Given the description of an element on the screen output the (x, y) to click on. 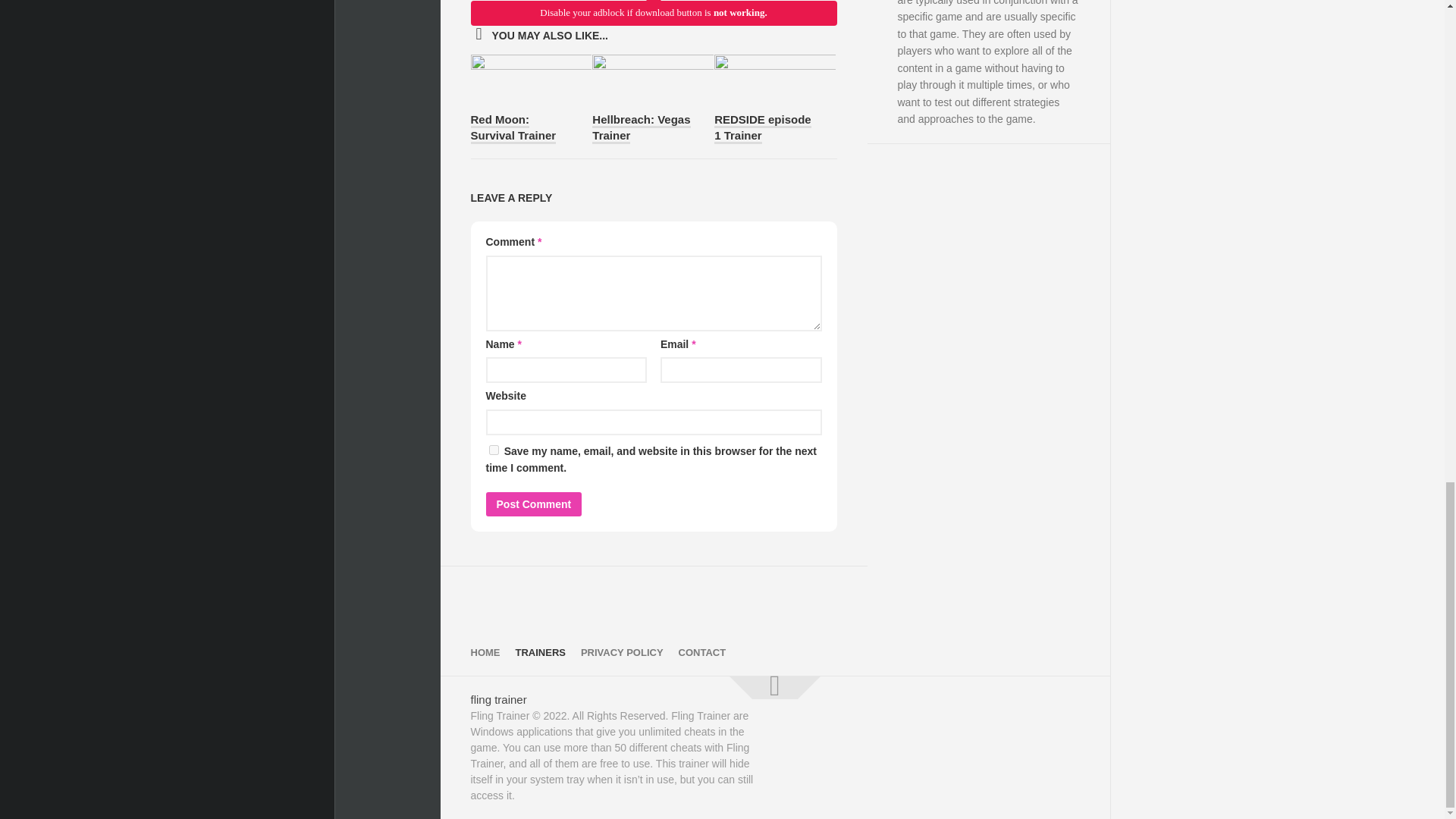
fling trainer (497, 698)
Hellbreach: Vegas Trainer (641, 128)
Post Comment (532, 504)
yes (492, 450)
REDSIDE episode 1 Trainer (762, 128)
Red Moon: Survival Trainer (513, 128)
Post Comment (532, 504)
